Given the description of an element on the screen output the (x, y) to click on. 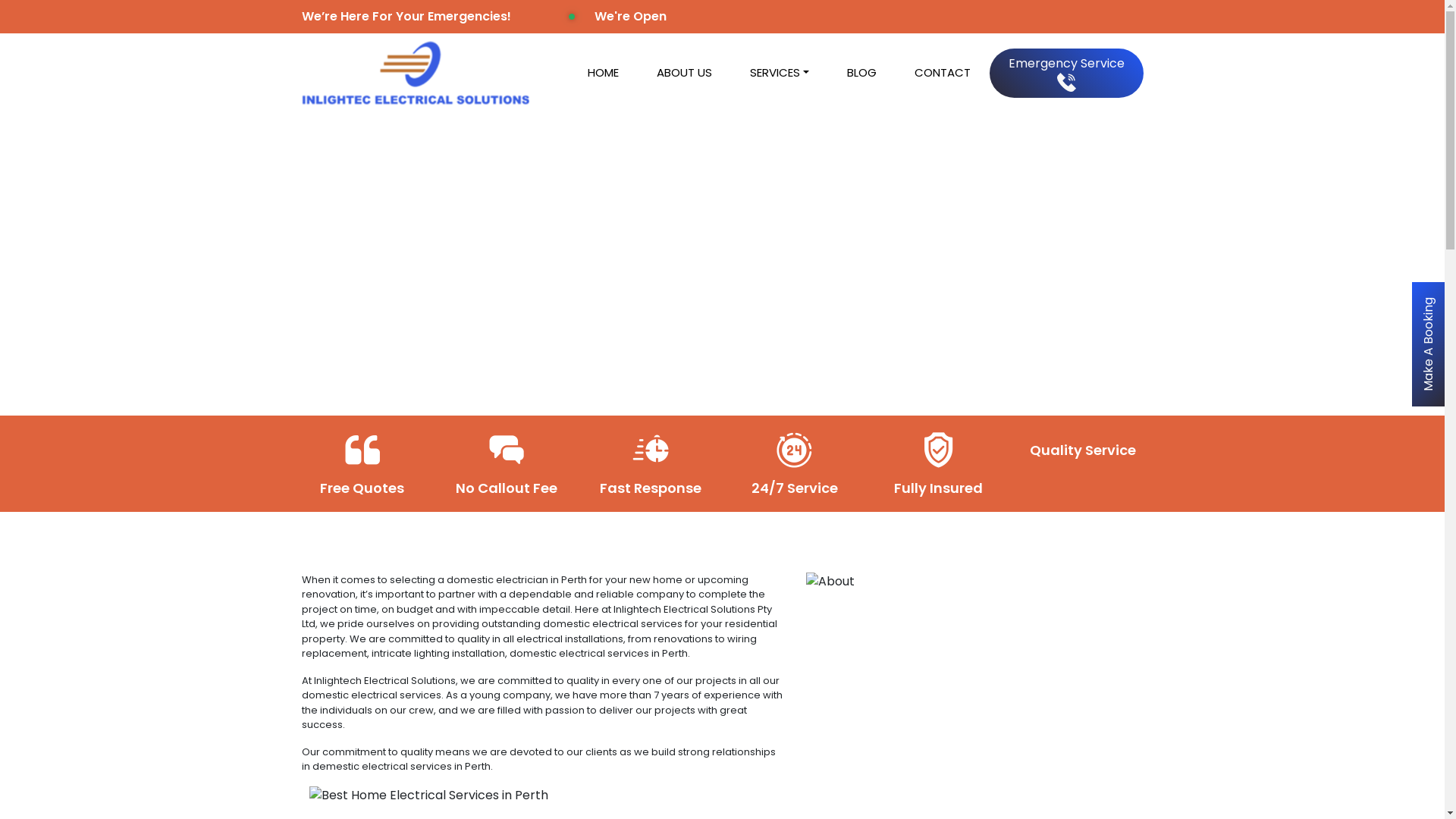
ABOUT US Element type: text (684, 72)
HOME Element type: text (602, 72)
BLOG Element type: text (861, 72)
Emergency Service Element type: text (1065, 72)
CONTACT Element type: text (941, 72)
SERVICES Element type: text (779, 72)
